Given the description of an element on the screen output the (x, y) to click on. 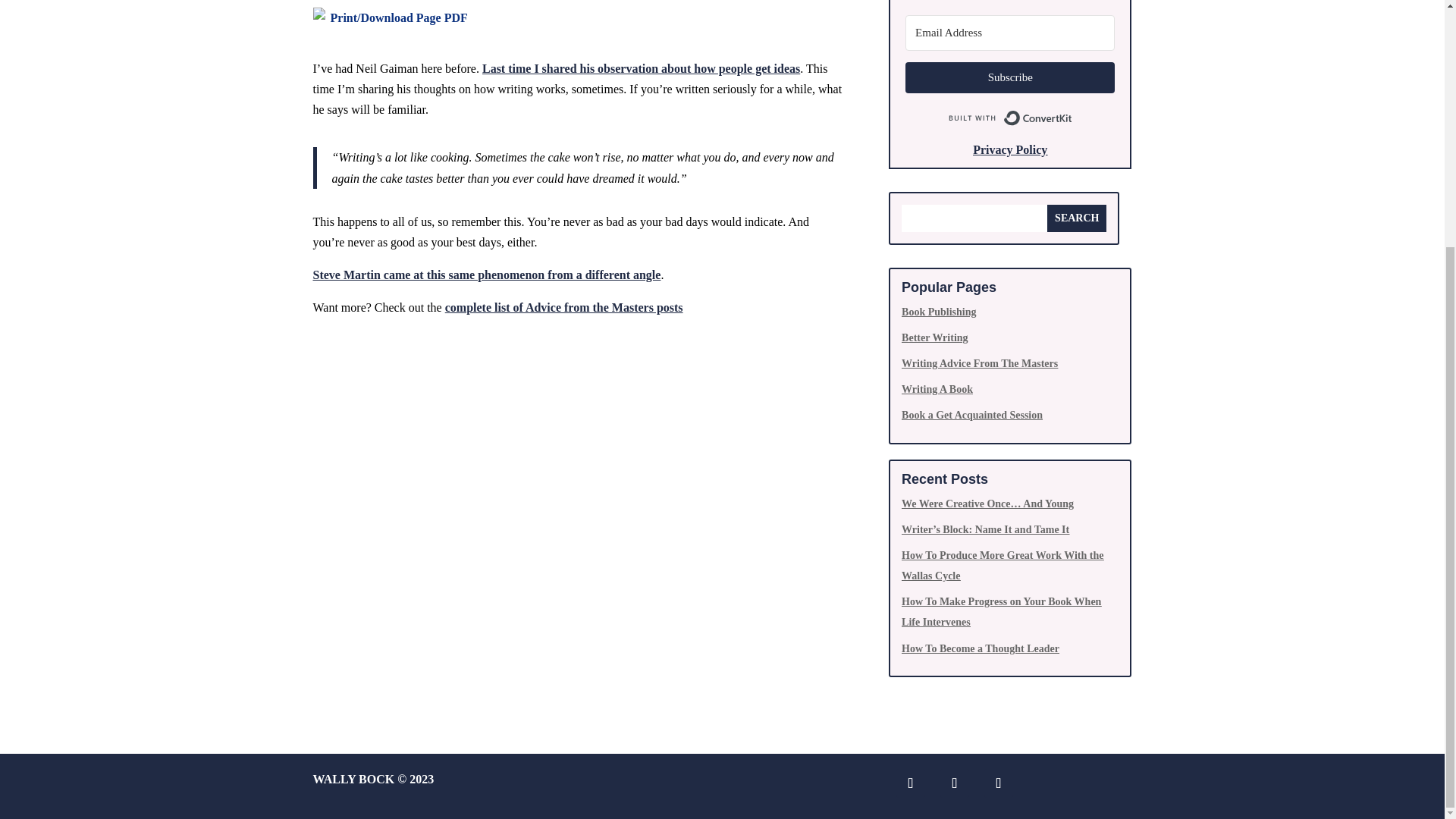
Search (1076, 217)
Privacy Policy (1009, 149)
How To Produce More Great Work With the Wallas Cycle (1002, 565)
Book a Get Acquainted Session (971, 414)
Writing Advice From The Masters (979, 363)
Subscribe (1010, 77)
Writing A Book (936, 389)
Follow on X (954, 783)
Search (1076, 217)
Search (1076, 217)
How To Become a Thought Leader (980, 648)
complete list of Advice from the Masters posts (563, 307)
Follow on LinkedIn (910, 783)
Better Writing (934, 337)
